Given the description of an element on the screen output the (x, y) to click on. 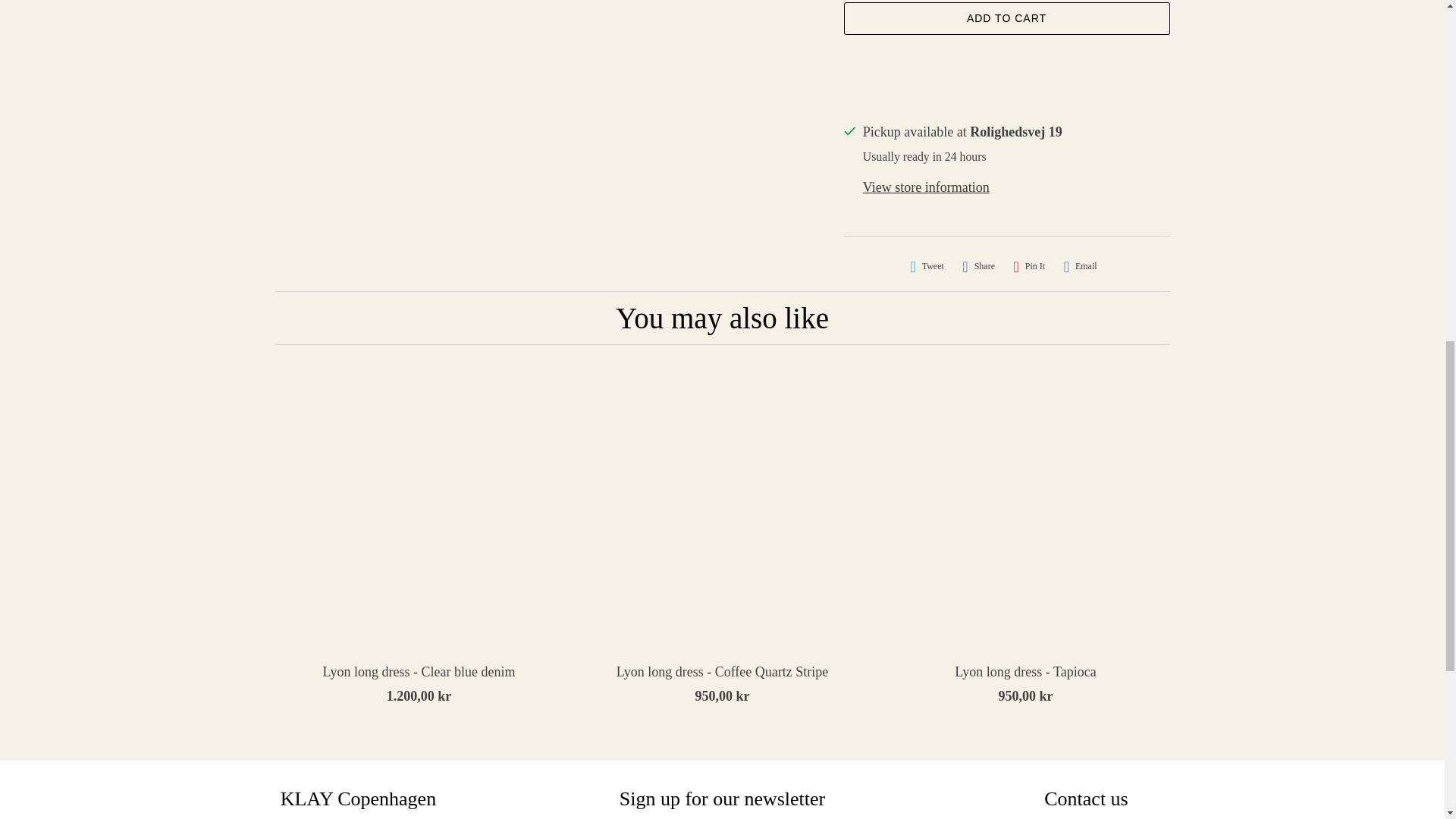
Share this on Facebook (978, 266)
Email this to a friend (1080, 266)
Share this on Twitter (926, 266)
Share this on Pinterest (1029, 266)
